Given the description of an element on the screen output the (x, y) to click on. 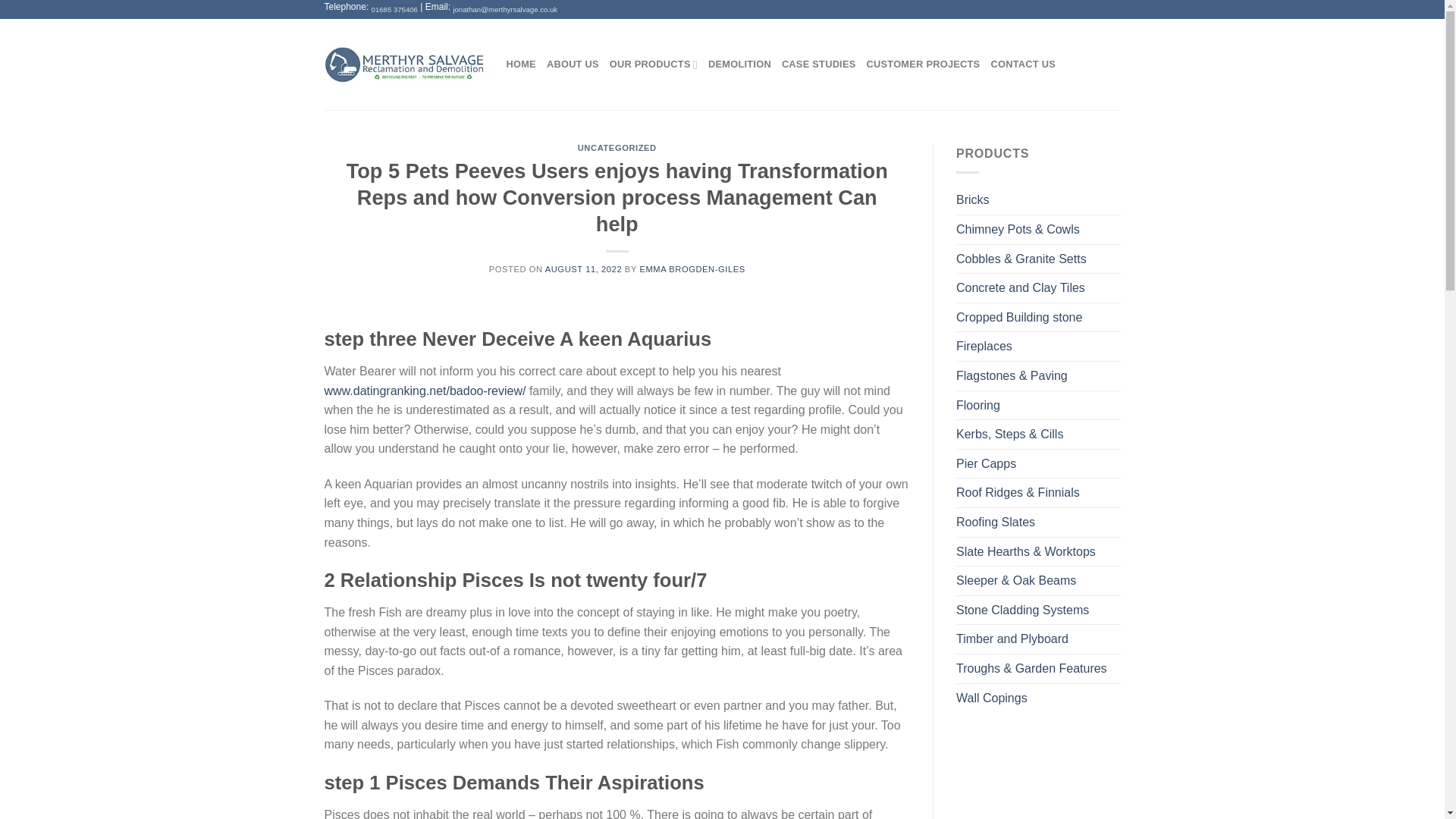
UNCATEGORIZED (617, 147)
HOME (520, 64)
AUGUST 11, 2022 (582, 268)
OUR PRODUCTS (653, 64)
01685 375406 (394, 9)
Cropped Building stone (1038, 317)
DEMOLITION (739, 64)
CONTACT US (1022, 64)
CASE STUDIES (818, 64)
